Given the description of an element on the screen output the (x, y) to click on. 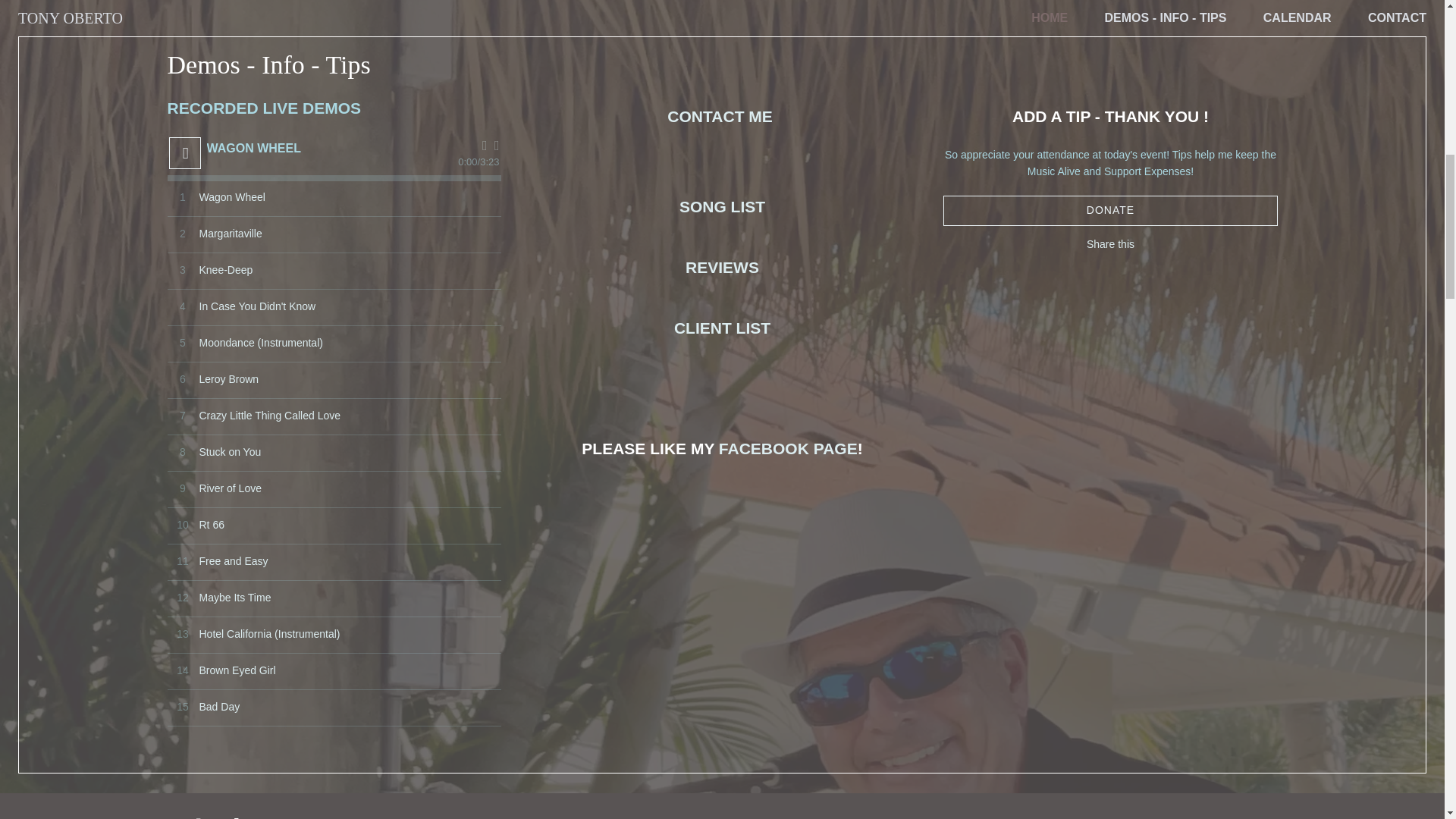
Crazy Little Thing Called Love (269, 415)
Knee-Deep (224, 270)
In Case You Didn't Know (256, 306)
Wagon Wheel (231, 197)
In Case You Didn't Know (256, 306)
Wagon Wheel (231, 197)
Margaritaville (230, 233)
Margaritaville (230, 233)
Stuck on You (229, 452)
Leroy Brown (228, 379)
